Given the description of an element on the screen output the (x, y) to click on. 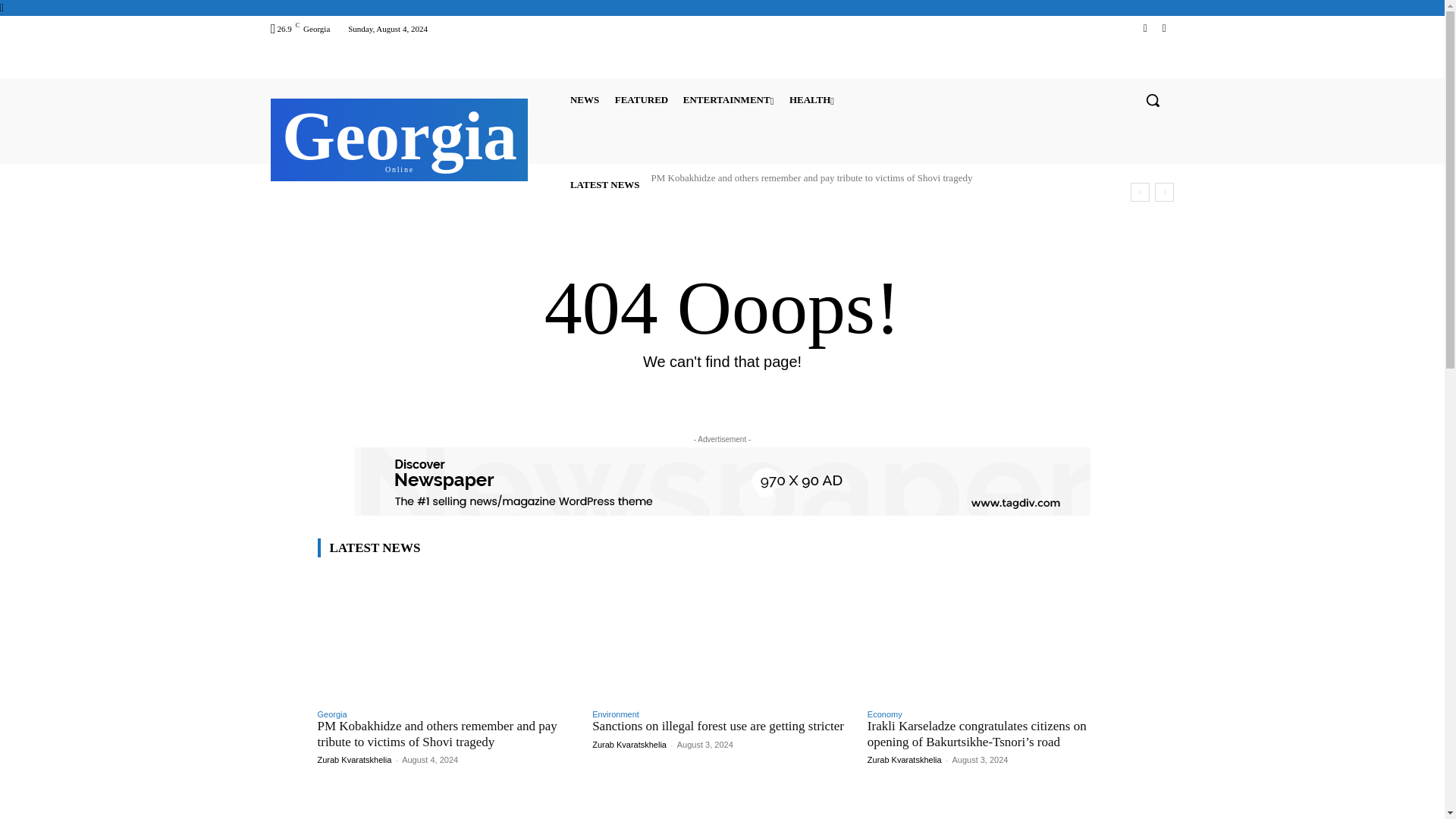
NEWS (584, 99)
Facebook (399, 137)
HEALTH (1144, 27)
Twitter (811, 99)
FEATURED (1163, 27)
ENTERTAINMENT (641, 99)
